Given the description of an element on the screen output the (x, y) to click on. 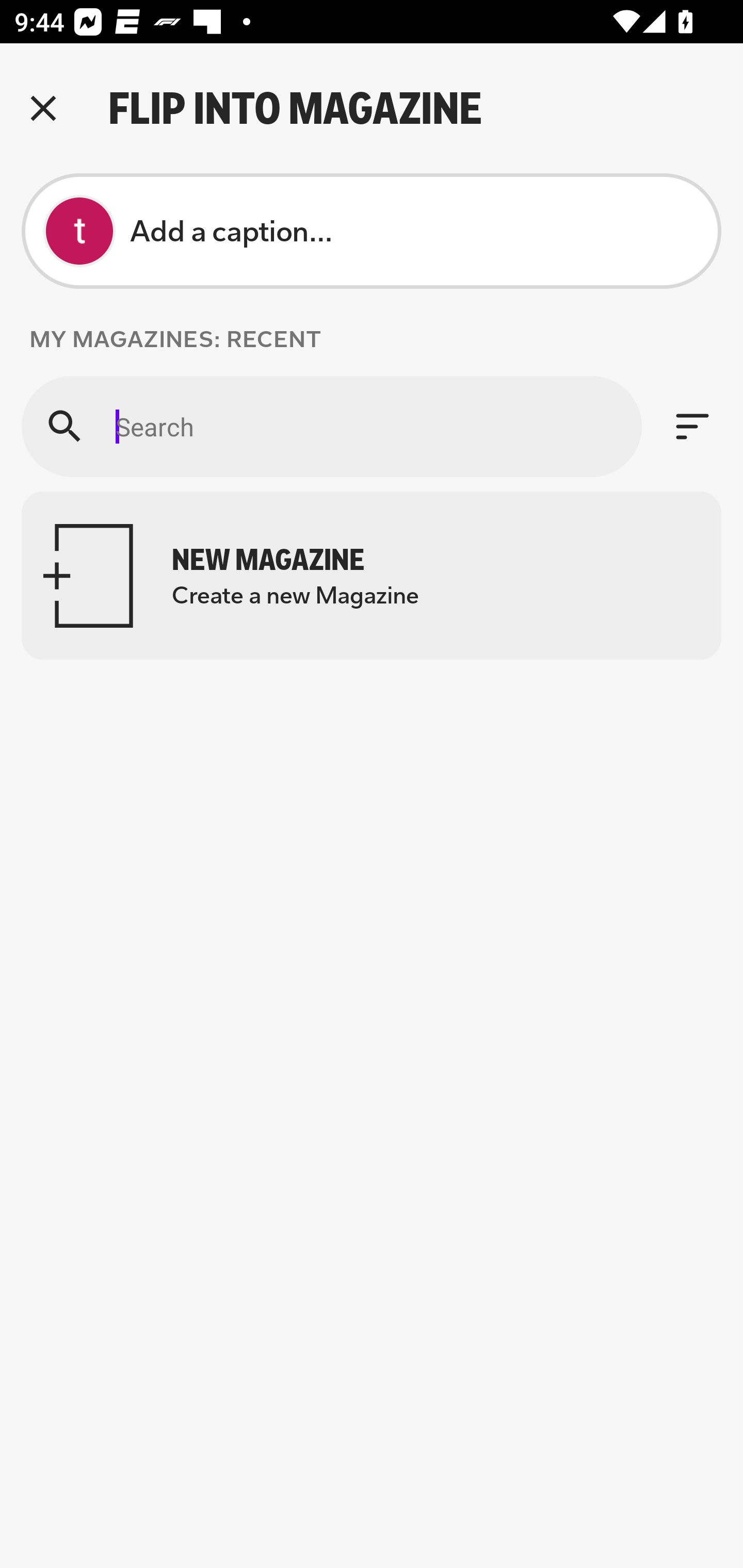
test appium Add a caption… (371, 231)
Search (331, 426)
NEW MAGAZINE Create a new Magazine (371, 575)
